Given the description of an element on the screen output the (x, y) to click on. 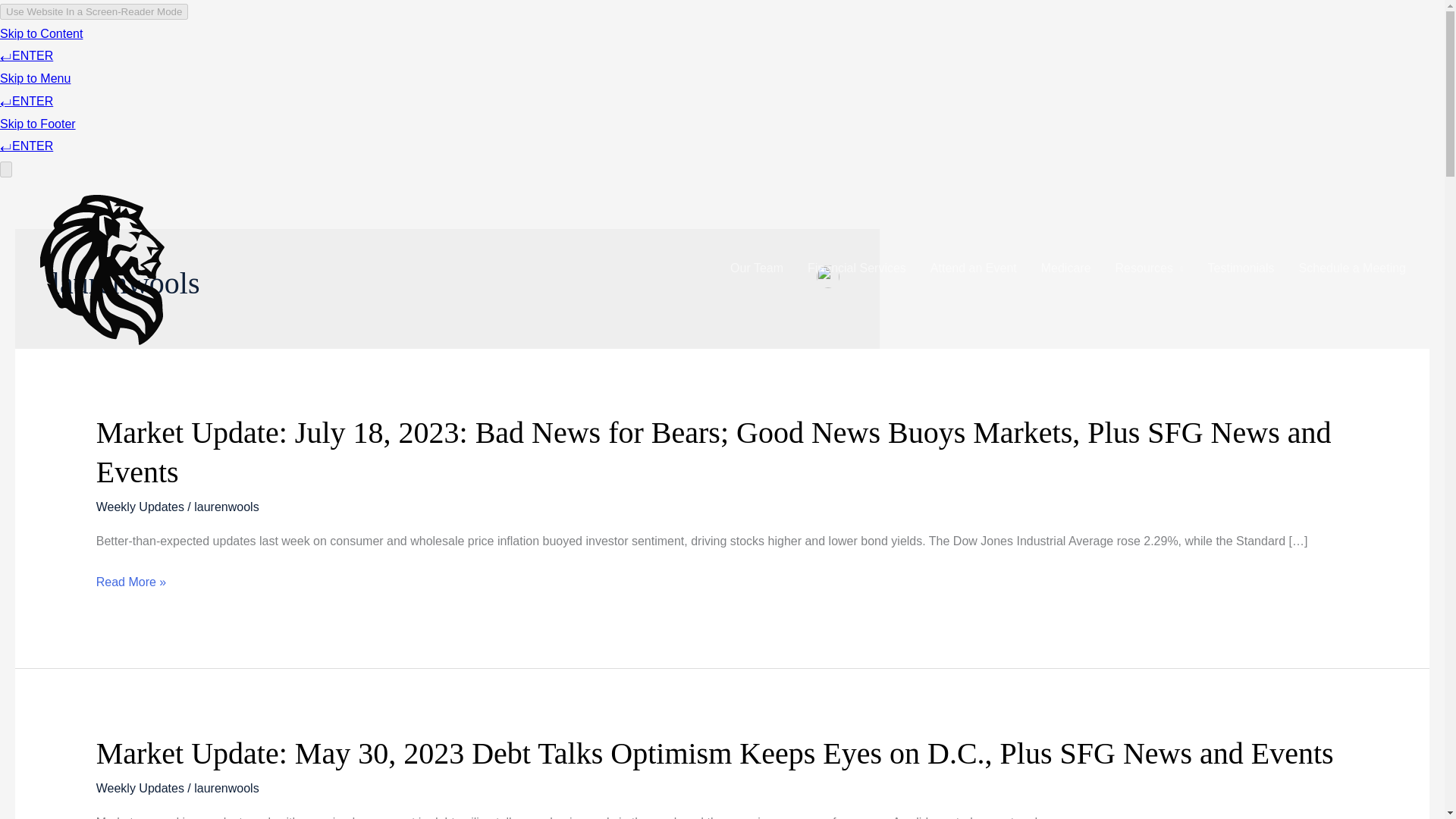
Financial Services (856, 268)
Testimonials (1241, 268)
Weekly Updates (140, 788)
Medicare (1066, 268)
Our Team (755, 268)
laurenwools (226, 506)
Schedule a Meeting (1352, 268)
View all posts by laurenwools (226, 788)
View all posts by laurenwools (226, 506)
laurenwools (226, 788)
Weekly Updates (140, 506)
Resources (1149, 268)
Attend an Event (973, 268)
